Given the description of an element on the screen output the (x, y) to click on. 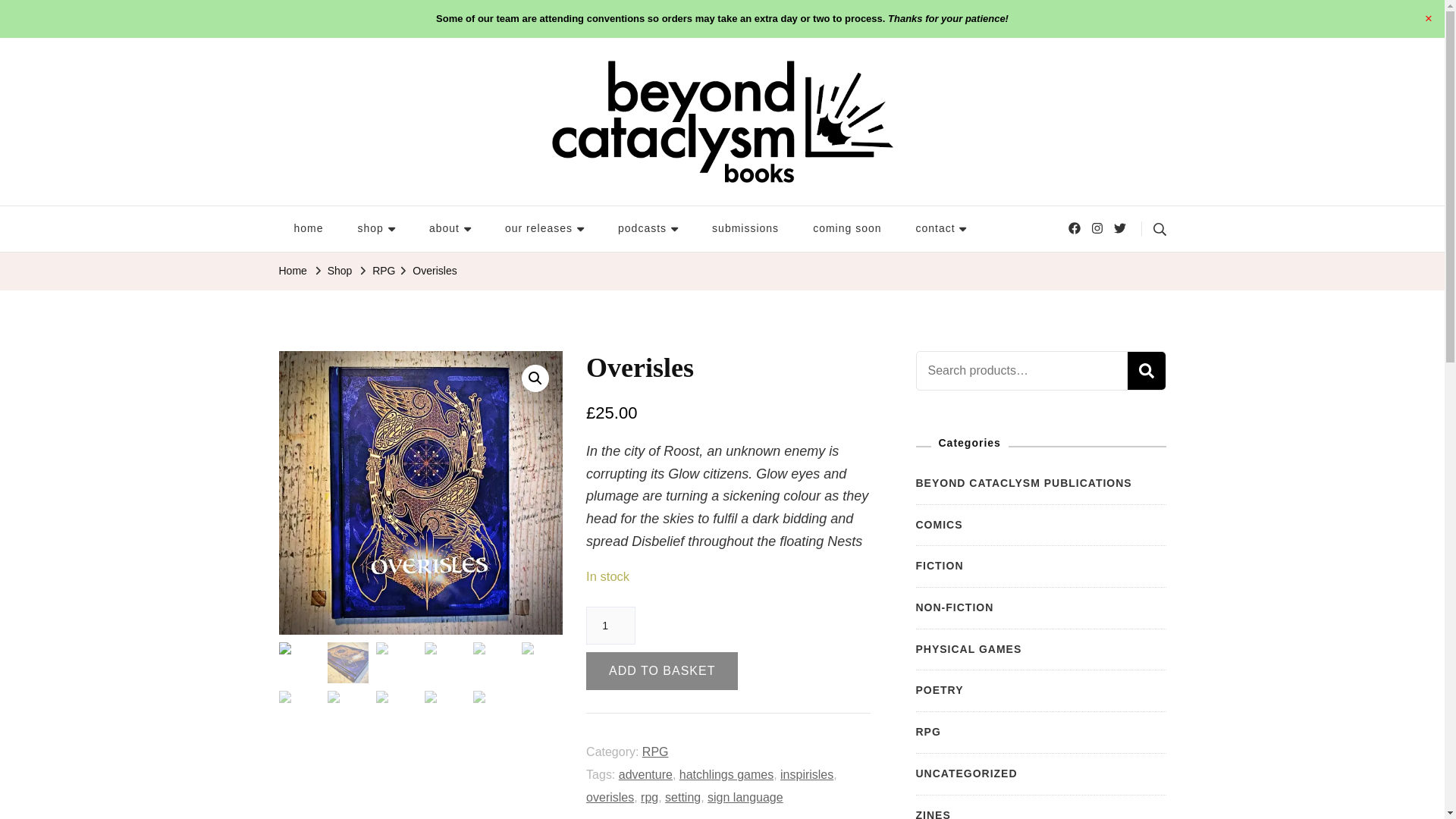
contact (941, 228)
1 (610, 625)
podcasts (647, 228)
about (449, 228)
submissions (745, 228)
home (307, 228)
coming soon (846, 228)
shop (376, 228)
our releases (543, 228)
Beyond Cataclysm (369, 193)
